Given the description of an element on the screen output the (x, y) to click on. 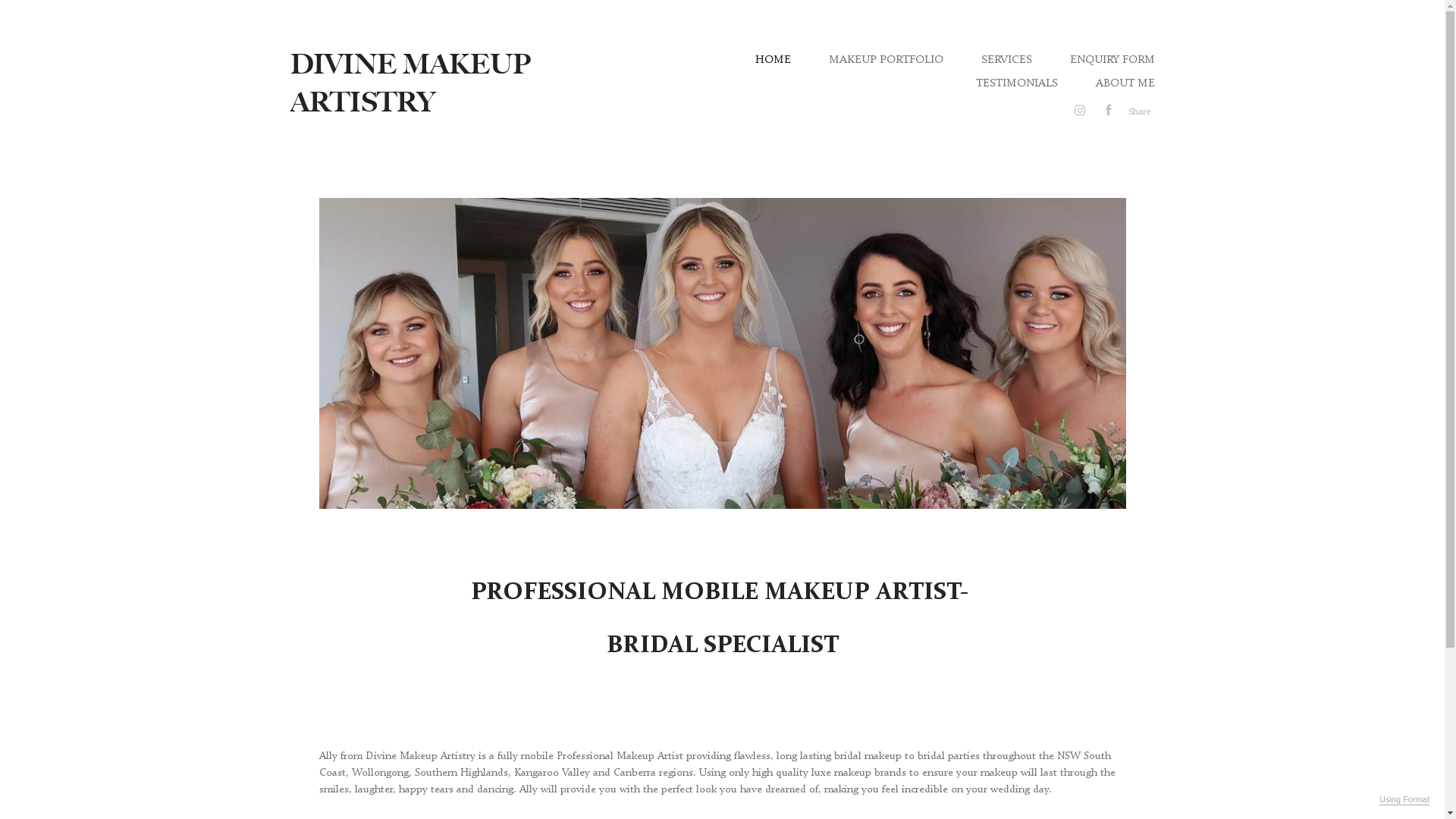
SERVICES Element type: text (1006, 58)
Share Element type: text (1139, 111)
HOME Element type: text (772, 58)
ENQUIRY FORM Element type: text (1111, 58)
DIVINE MAKEUP ARTISTRY Element type: text (409, 82)
ABOUT ME Element type: text (1124, 82)
Using Format Element type: text (1404, 799)
TESTIMONIALS Element type: text (1016, 82)
MAKEUP PORTFOLIO Element type: text (885, 58)
